Given the description of an element on the screen output the (x, y) to click on. 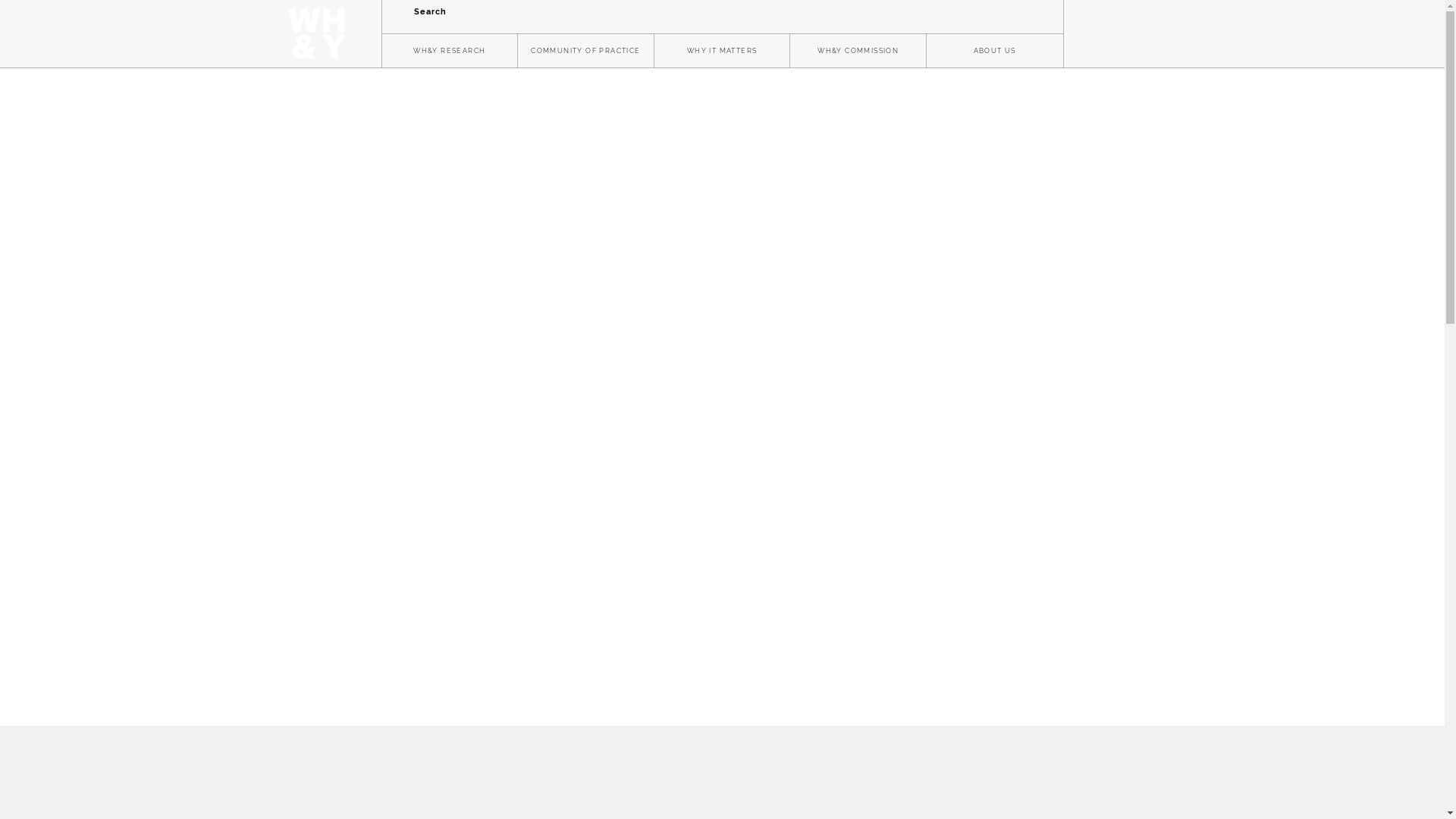
ABOUT US Element type: text (994, 50)
WHY IT MATTERS Element type: text (722, 50)
COMMUNITY OF PRACTICE Element type: text (585, 50)
Skip to main content Element type: text (0, 0)
WH&Y COMMISSION Element type: text (857, 50)
WH&Y RESEARCH Element type: text (449, 50)
